Given the description of an element on the screen output the (x, y) to click on. 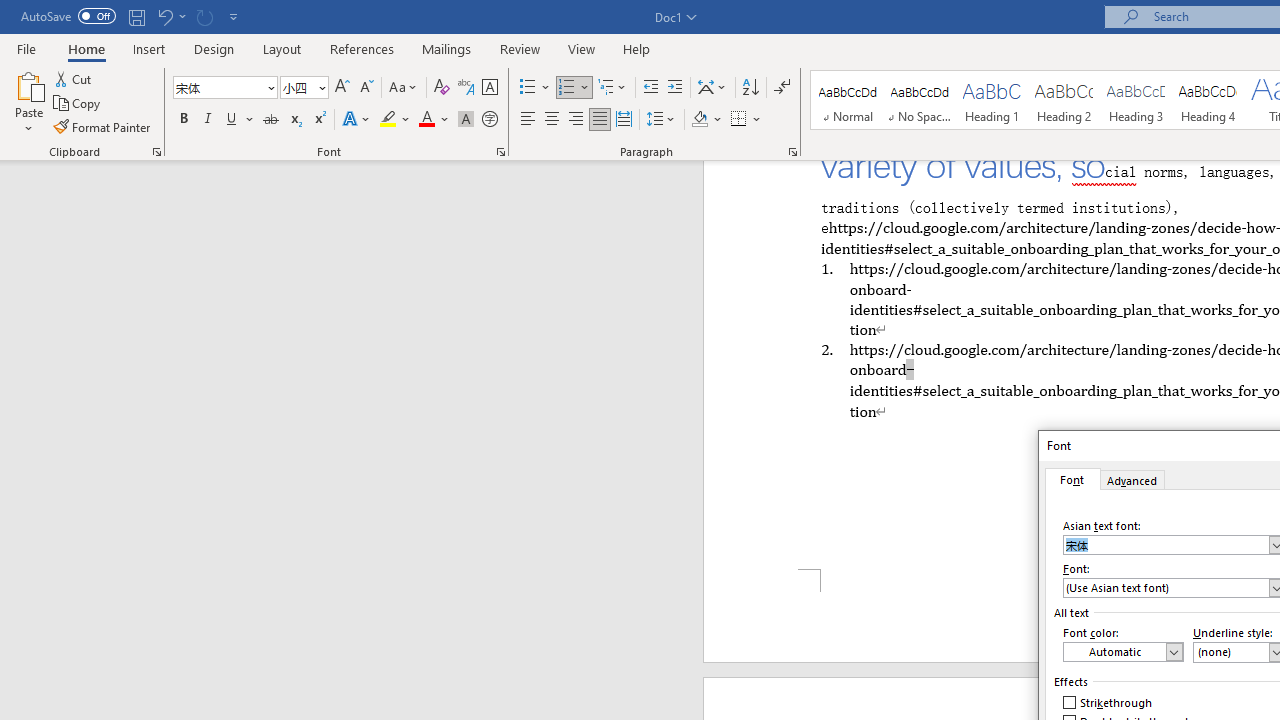
Text Highlight Color Yellow (388, 119)
Font Size (304, 87)
Heading 3 (1135, 100)
Character Border (489, 87)
Shading (706, 119)
Customize Quick Access Toolbar (234, 15)
Heading 1 (991, 100)
Paragraph... (792, 151)
Text Highlight Color (395, 119)
Review (520, 48)
Can't Repeat (204, 15)
Open (320, 87)
